Given the description of an element on the screen output the (x, y) to click on. 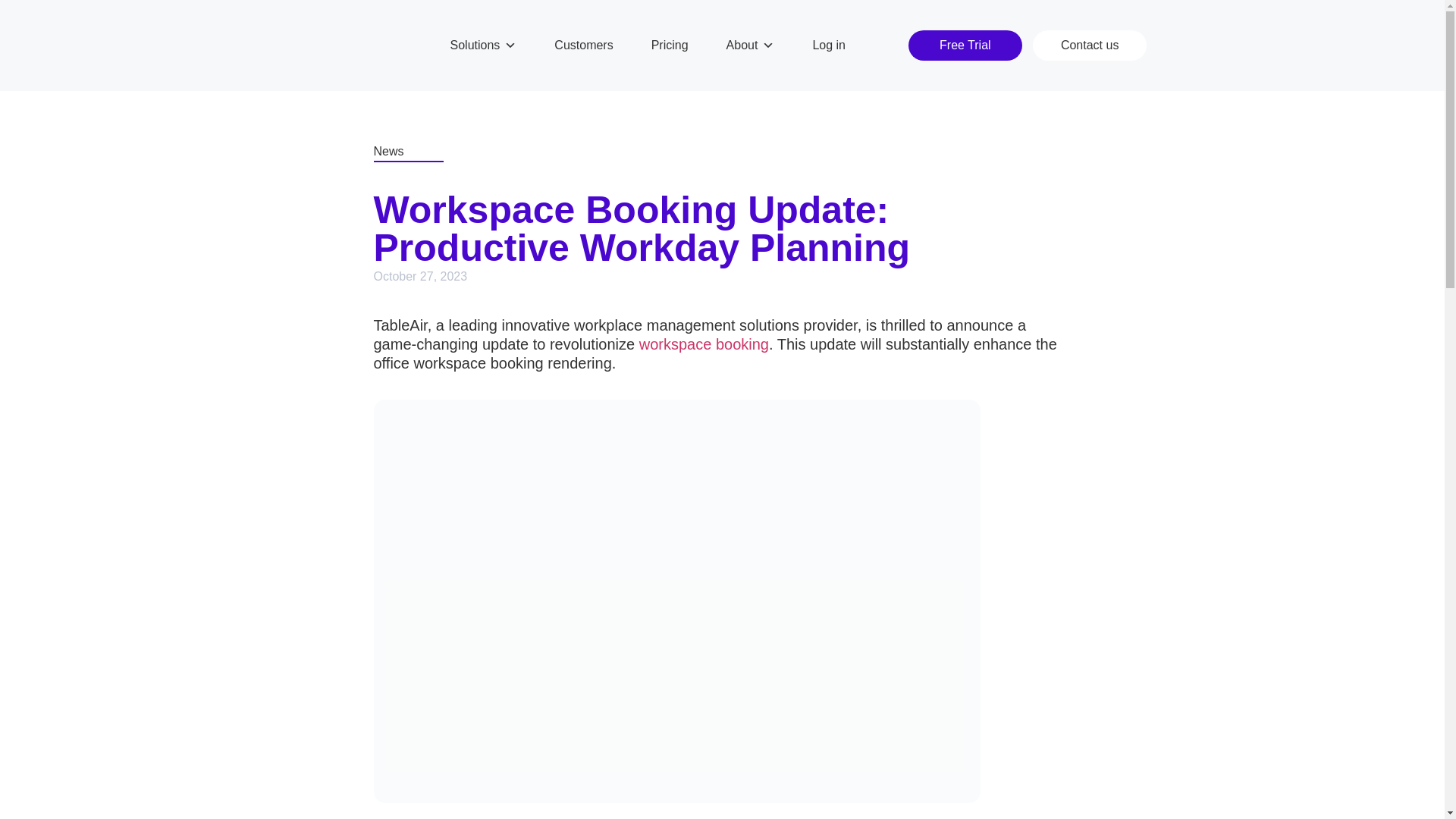
workspace booking (703, 343)
Contact us (1089, 45)
Free Trial (965, 45)
About (751, 45)
Solutions (483, 45)
Customers (583, 45)
October 27, 2023 (419, 275)
